Given the description of an element on the screen output the (x, y) to click on. 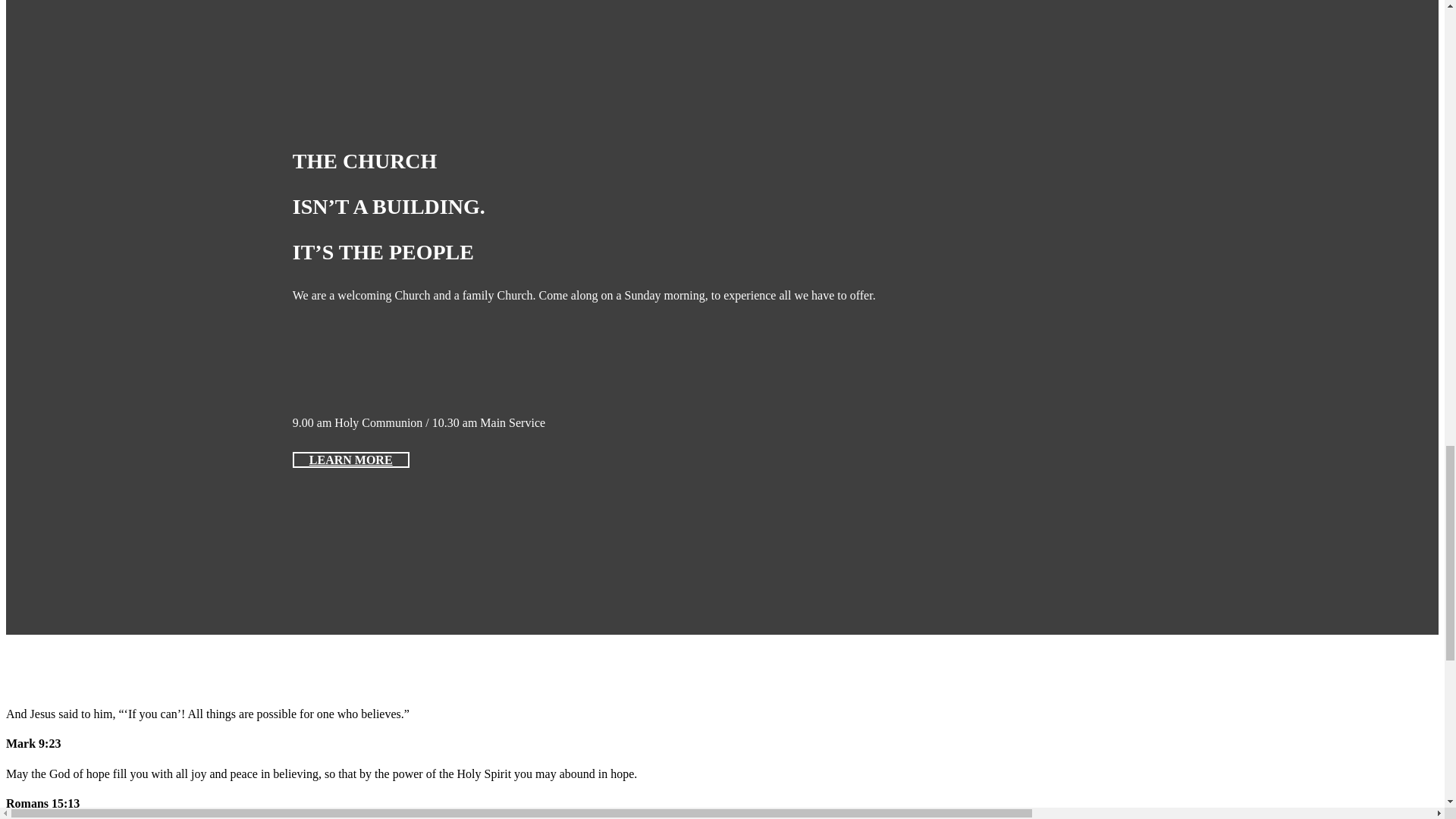
LEARN MORE (350, 459)
